Given the description of an element on the screen output the (x, y) to click on. 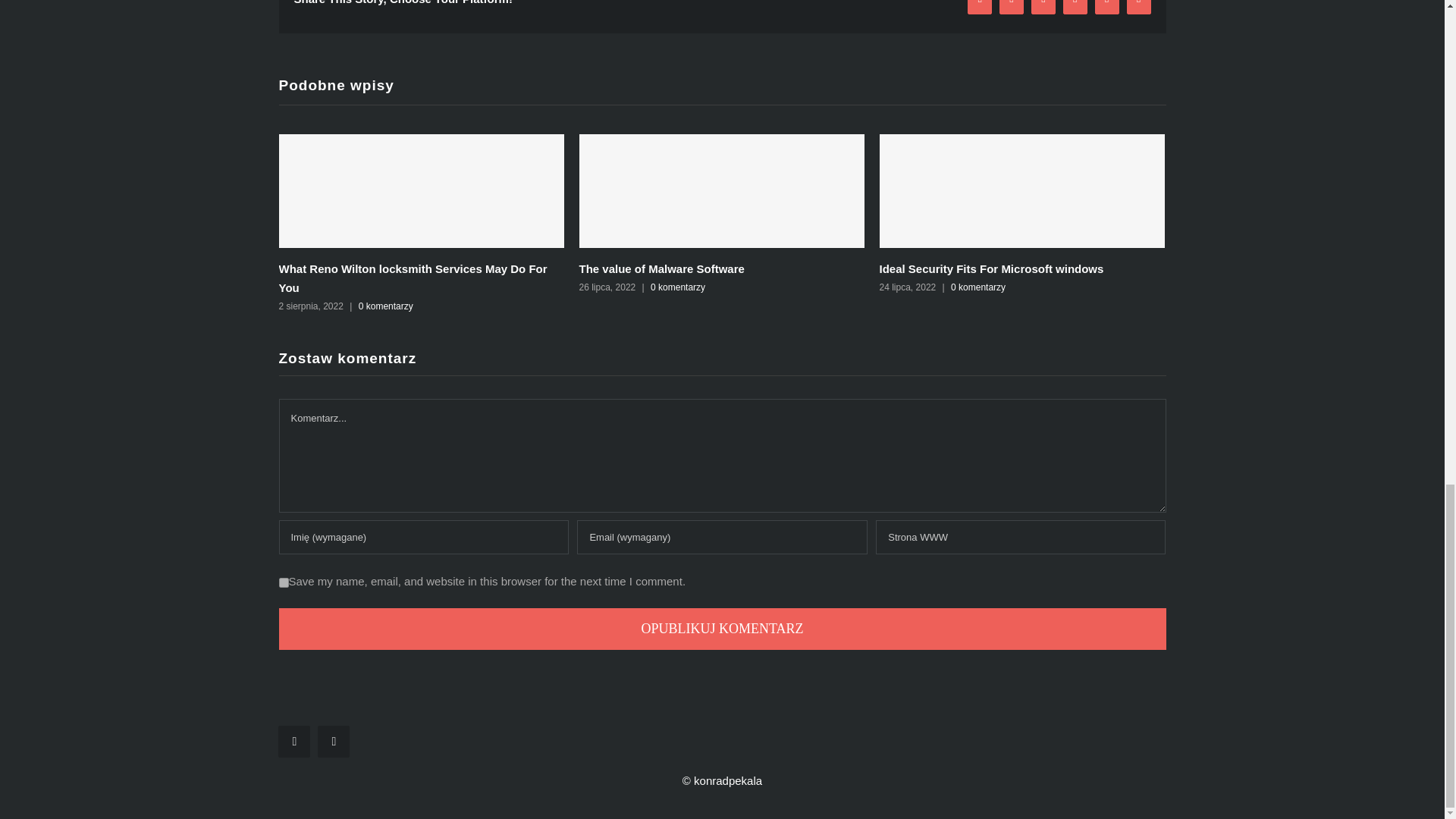
The value of Malware Software (661, 268)
LinkedIn (1074, 7)
yes (283, 583)
What Reno Wilton locksmith Services May Do For You (413, 278)
Pinterest (1106, 7)
0 komentarzy (978, 286)
Ideal Security Fits For Microsoft windows (991, 268)
Email (1138, 7)
Facebook (979, 7)
Opublikuj komentarz (722, 629)
